Given the description of an element on the screen output the (x, y) to click on. 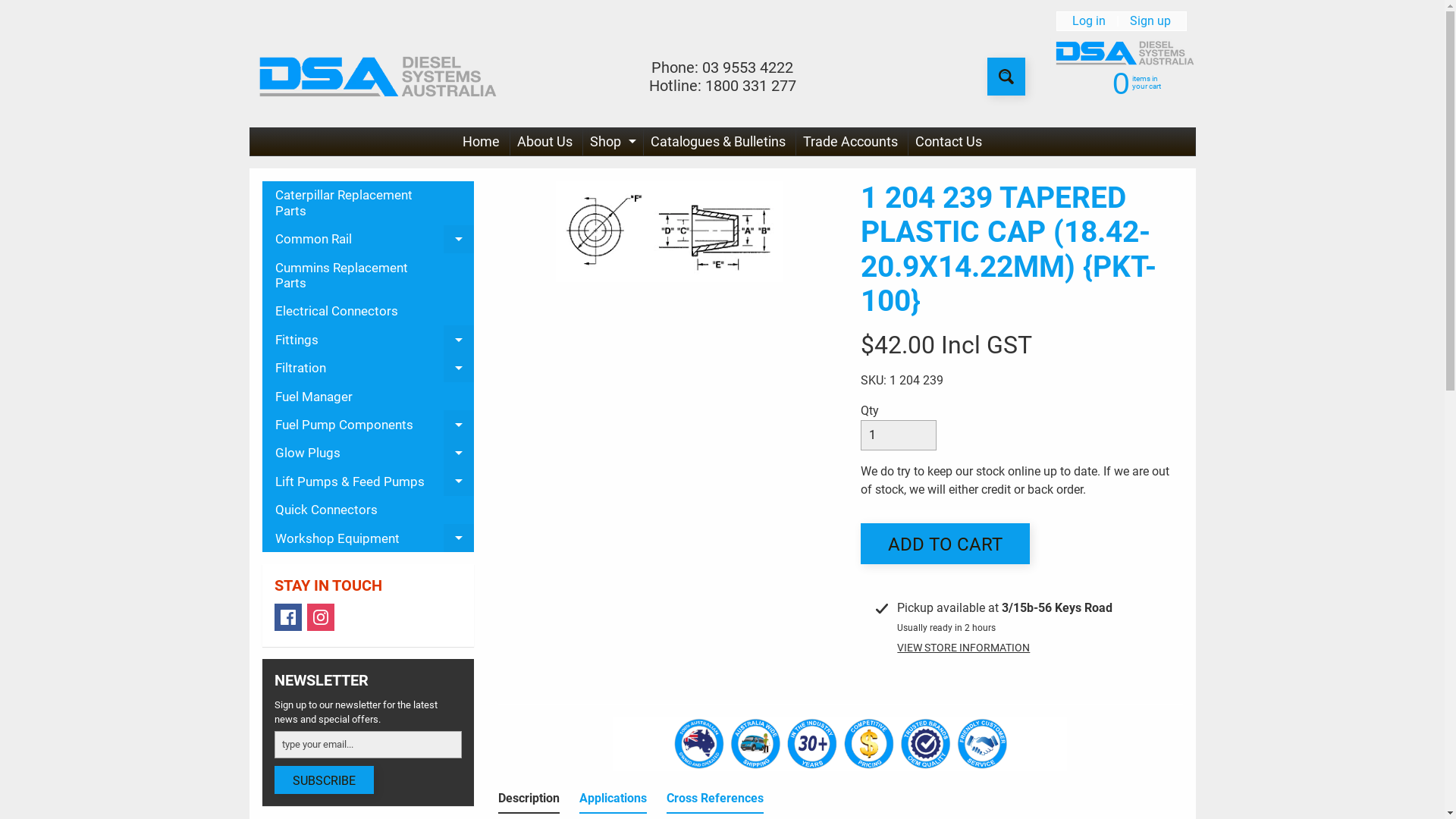
Diesel Systems Australia Element type: hover (373, 76)
EXPAND CHILD MENU Element type: text (458, 424)
Caterpillar Replacement Parts Element type: text (368, 203)
SUBSCRIBE Element type: text (323, 779)
Electrical Connectors Element type: text (368, 311)
Trade Accounts Element type: text (850, 141)
ADD TO CART Element type: text (944, 543)
Cross References Element type: text (714, 801)
Home Element type: text (480, 141)
Catalogues & Bulletins Element type: text (717, 141)
Log in Element type: text (1088, 21)
Shop
EXPAND CHILD MENU Element type: text (611, 141)
Quick Connectors Element type: text (368, 509)
Applications Element type: text (612, 801)
EXPAND CHILD MENU Element type: text (458, 368)
Lift Pumps & Feed Pumps
EXPAND CHILD MENU Element type: text (368, 481)
Instagram Element type: hover (319, 616)
Fittings
EXPAND CHILD MENU Element type: text (368, 339)
0
items in your cart Element type: text (1122, 81)
Fuel Manager Element type: text (368, 396)
Sign up Element type: text (1150, 21)
EXPAND CHILD MENU Element type: text (632, 141)
Common Rail
EXPAND CHILD MENU Element type: text (368, 239)
Contact Us Element type: text (948, 141)
Fuel Pump Components
EXPAND CHILD MENU Element type: text (368, 424)
SKIP TO CONTENT Element type: text (22, 8)
SKIP TO PRODUCT INFORMATION Element type: text (520, 189)
EXPAND CHILD MENU Element type: text (458, 453)
Glow Plugs
EXPAND CHILD MENU Element type: text (368, 453)
Facebook Element type: hover (287, 616)
EXPAND CHILD MENU Element type: text (458, 538)
Cummins Replacement Parts Element type: text (368, 275)
EXPAND CHILD MENU Element type: text (458, 481)
Description Element type: text (528, 801)
SEARCH Element type: text (1006, 76)
Workshop Equipment
EXPAND CHILD MENU Element type: text (368, 538)
EXPAND CHILD MENU Element type: text (458, 339)
About Us Element type: text (544, 141)
Filtration
EXPAND CHILD MENU Element type: text (368, 368)
EXPAND CHILD MENU Element type: text (458, 239)
VIEW STORE INFORMATION Element type: text (963, 647)
